Given the description of an element on the screen output the (x, y) to click on. 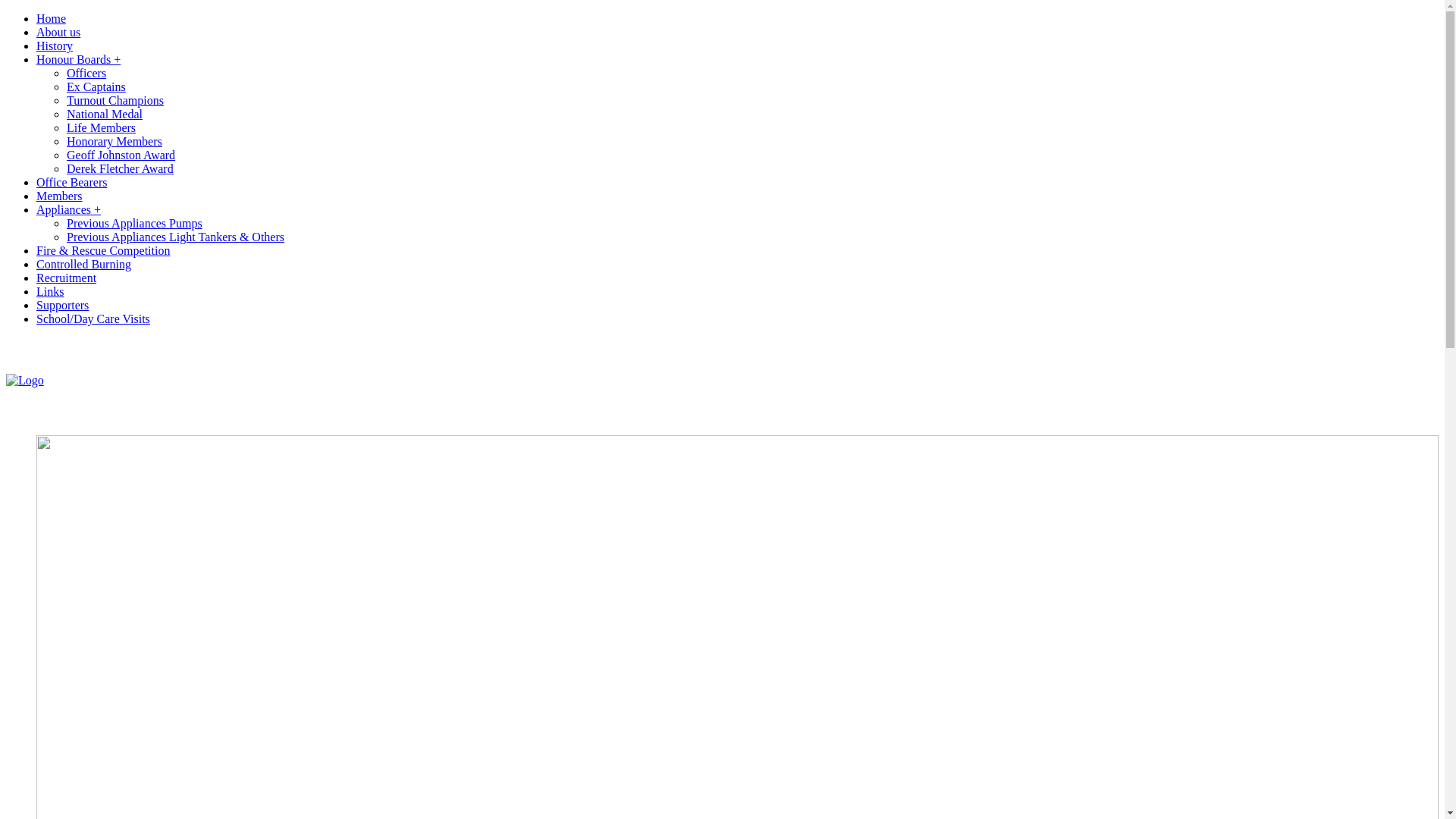
Ex Captains Element type: text (95, 86)
Turnout Champions Element type: text (114, 100)
Honour Boards + Element type: text (78, 59)
Office Bearers Element type: text (71, 181)
Geoff Johnston Award Element type: text (120, 154)
Derek Fletcher Award Element type: text (119, 168)
Members Element type: text (58, 195)
Controlled Burning Element type: text (83, 263)
Previous Appliances Light Tankers & Others Element type: text (175, 236)
Recruitment Element type: text (66, 277)
Previous Appliances Pumps Element type: text (134, 222)
Links Element type: text (49, 291)
About us Element type: text (58, 31)
History Element type: text (54, 45)
National Medal Element type: text (104, 113)
Life Members Element type: text (100, 127)
Appliances + Element type: text (68, 209)
Honorary Members Element type: text (114, 140)
Fire & Rescue Competition Element type: text (102, 250)
Home Element type: text (50, 18)
Supporters Element type: text (62, 304)
School/Day Care Visits Element type: text (93, 318)
Officers Element type: text (86, 72)
